Given the description of an element on the screen output the (x, y) to click on. 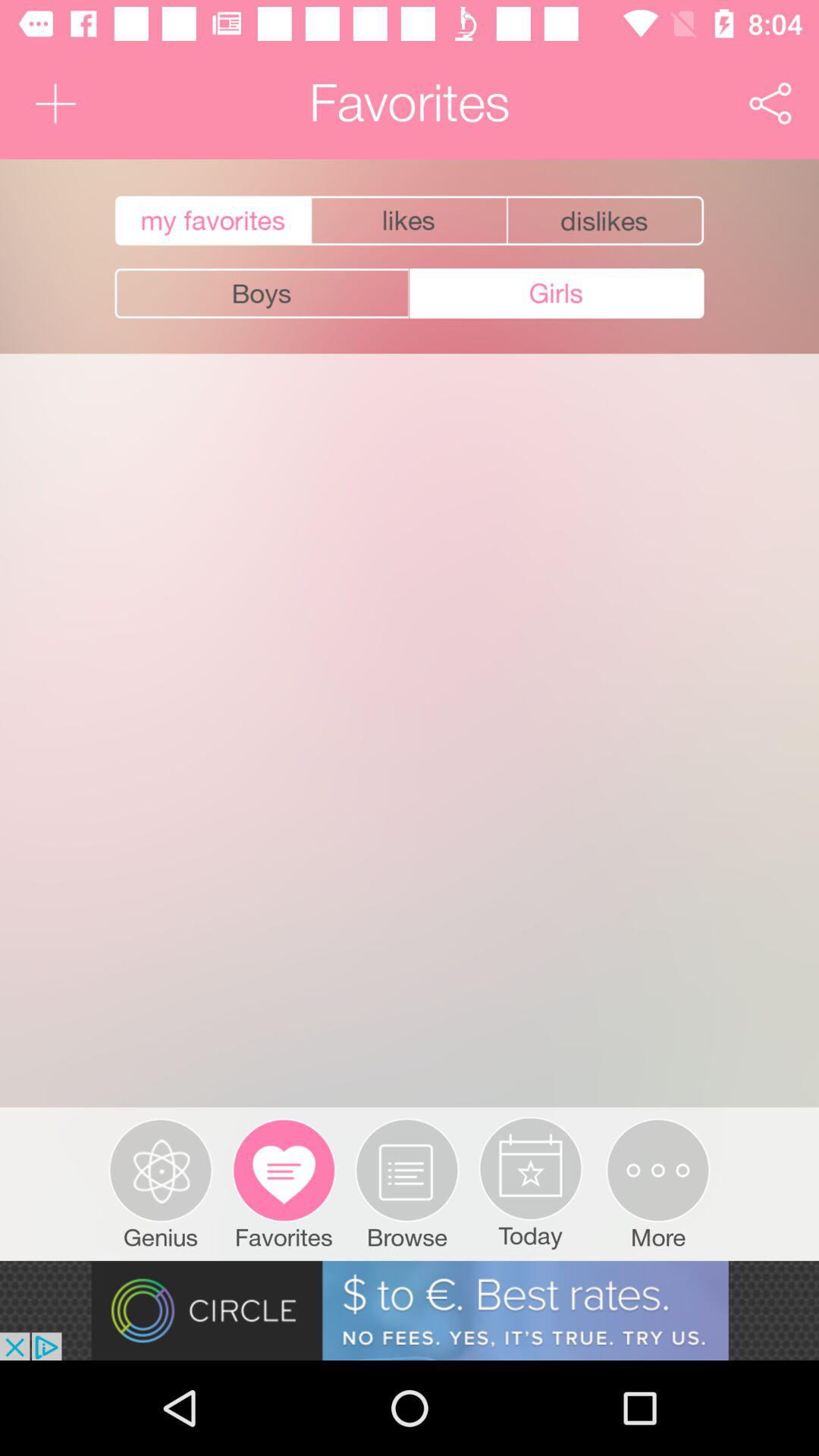
select boys (261, 293)
